Given the description of an element on the screen output the (x, y) to click on. 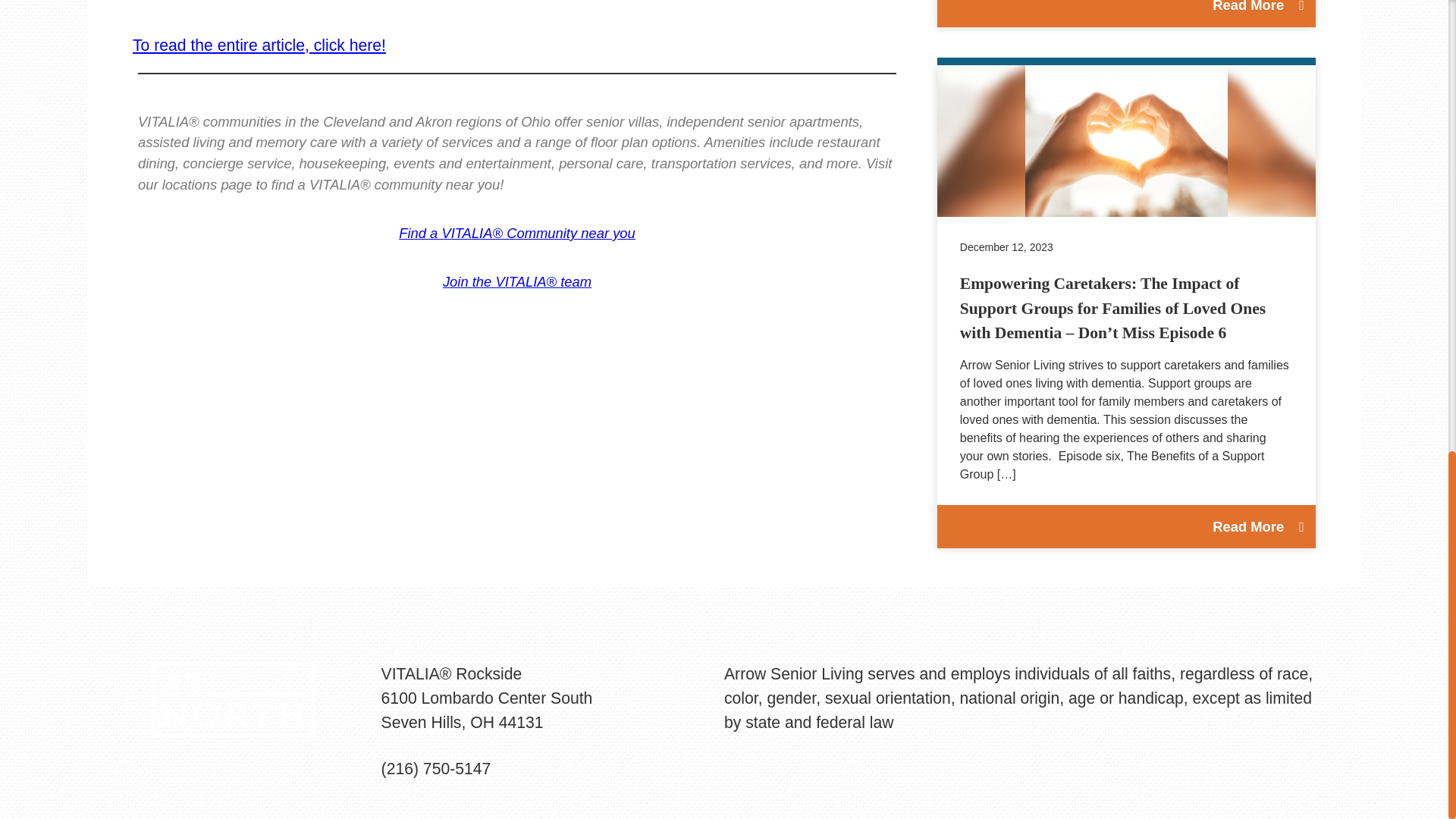
To read the entire article, click here! (258, 45)
